Given the description of an element on the screen output the (x, y) to click on. 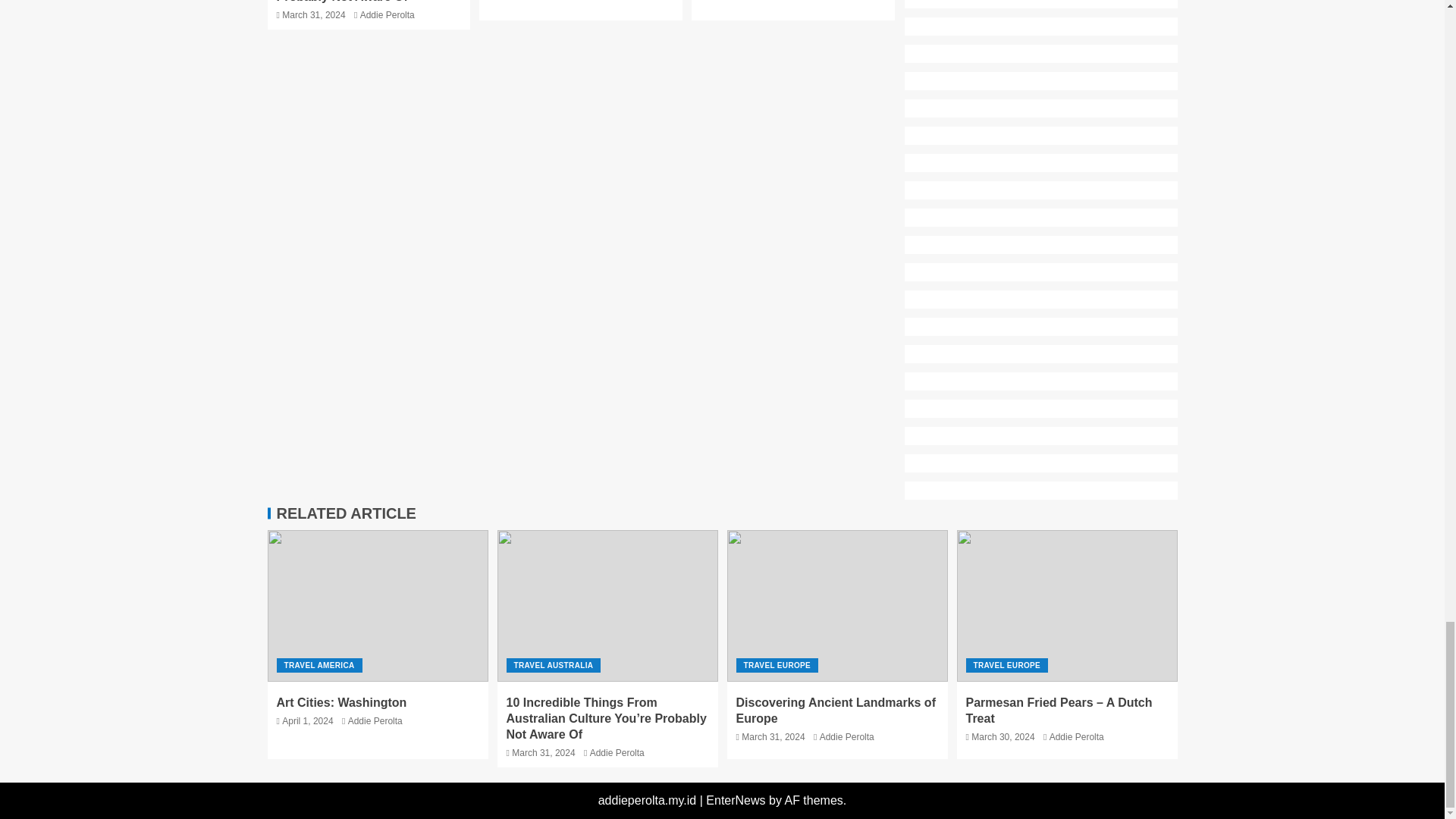
Addie Perolta (386, 14)
